Given the description of an element on the screen output the (x, y) to click on. 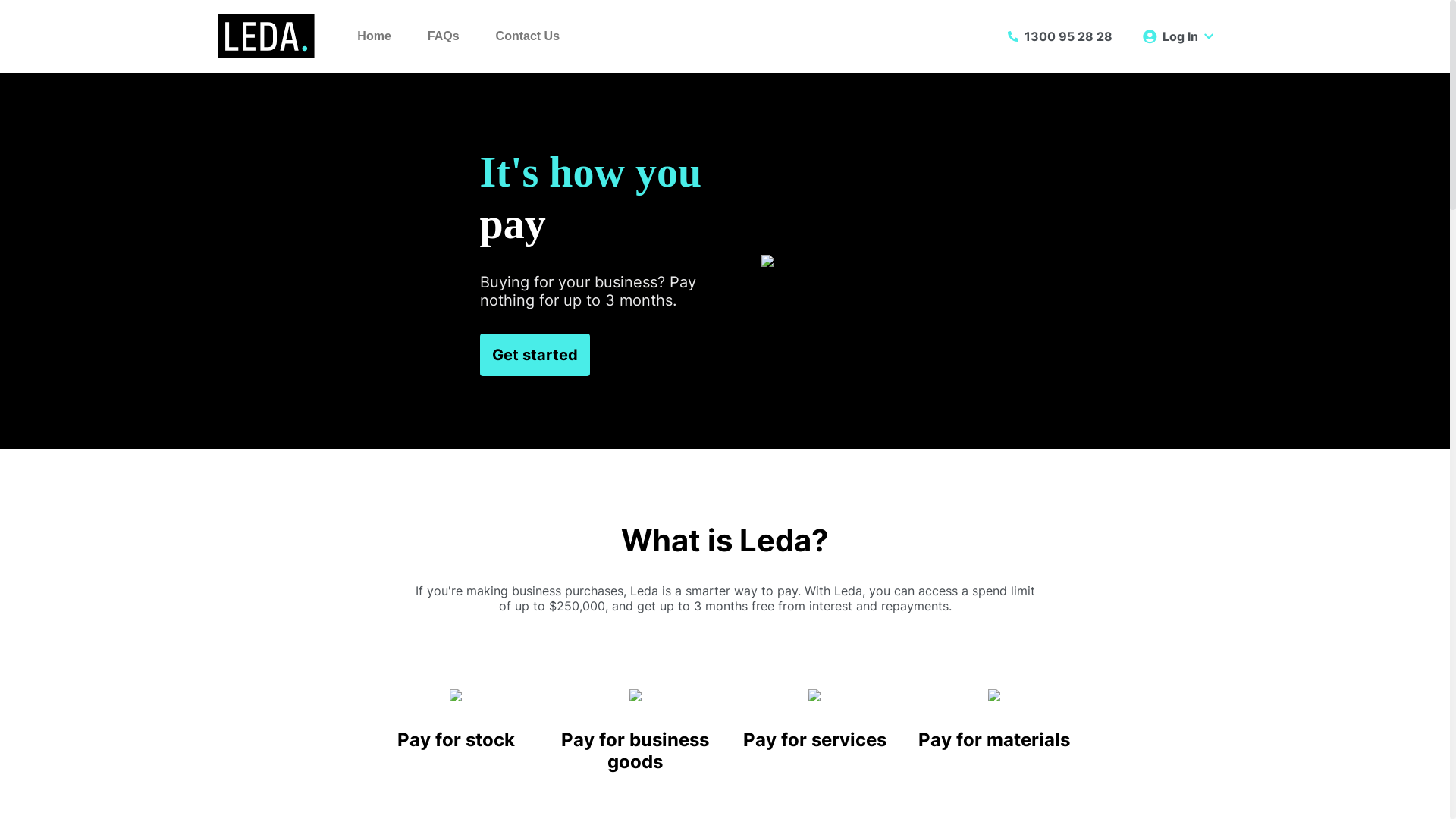
Contact Us Element type: text (527, 36)
1300 95 28 28 Element type: text (1056, 35)
FAQs Element type: text (443, 36)
Log In Element type: text (1178, 35)
Get started Element type: text (534, 354)
Home Element type: text (373, 36)
